Given the description of an element on the screen output the (x, y) to click on. 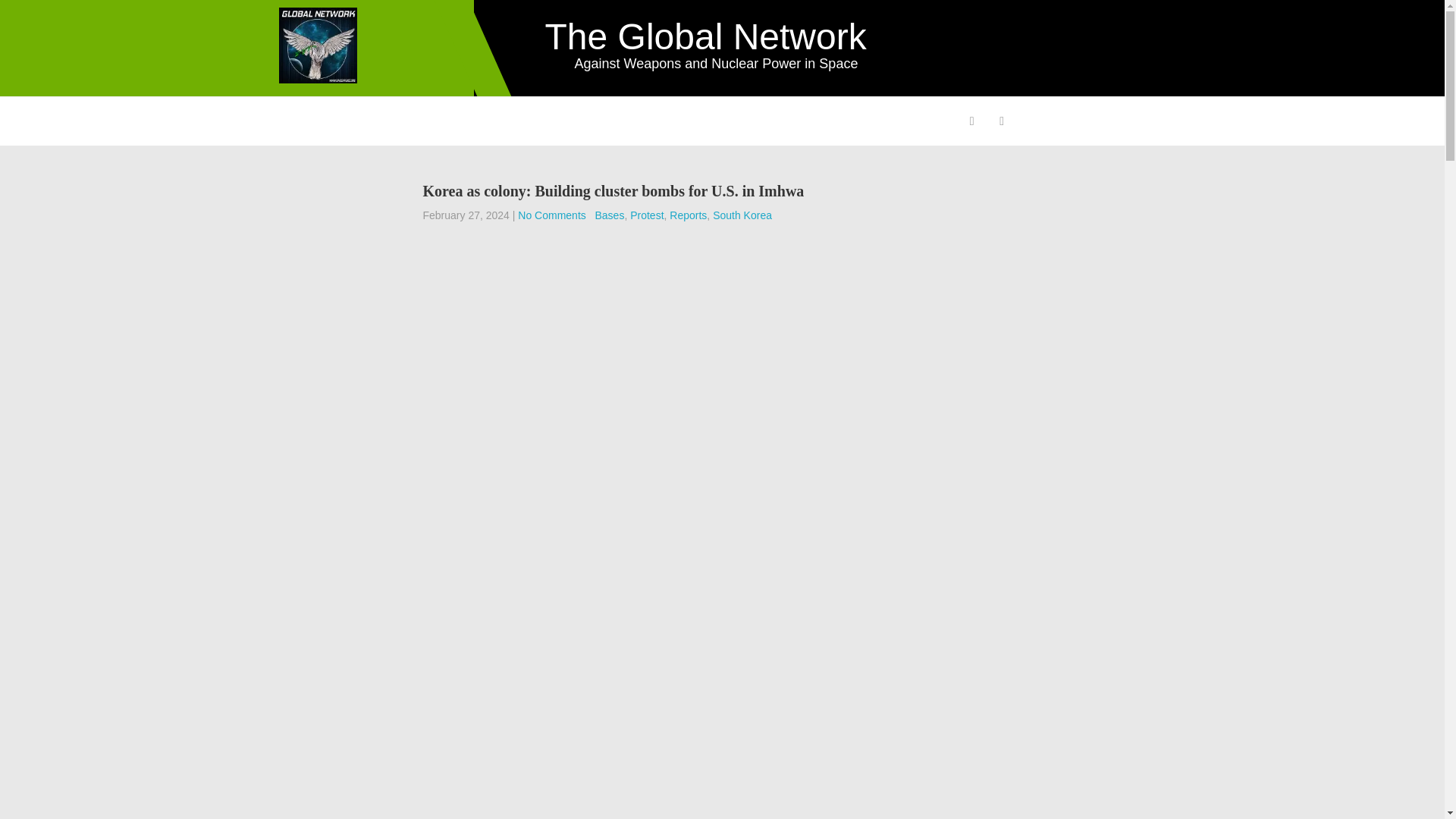
Top of Page (1382, 786)
View all posts in Bases (609, 215)
No Comments (551, 215)
fab fa-facebook-f (971, 122)
Contact Us (818, 121)
View all posts in Reports (687, 215)
About Us (315, 121)
View all posts in Protest (646, 215)
Resources (737, 121)
fab fa-youtube (1001, 122)
View all posts in South Korea (742, 215)
Events (667, 121)
Donate (892, 121)
